Given the description of an element on the screen output the (x, y) to click on. 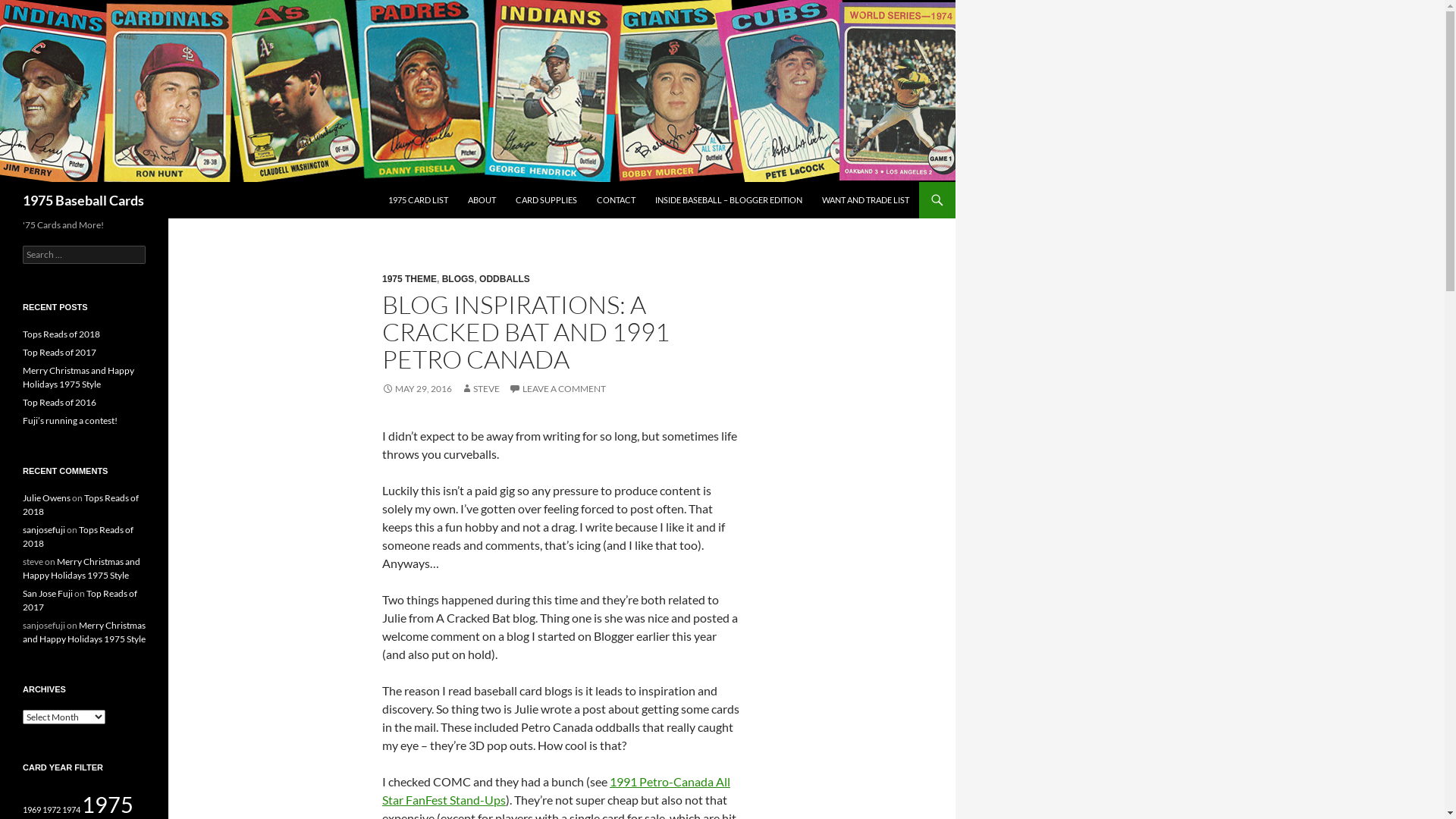
Top Reads of 2017 Element type: text (59, 351)
1972 Element type: text (51, 809)
Tops Reads of 2018 Element type: text (80, 504)
BLOGS Element type: text (458, 278)
Tops Reads of 2018 Element type: text (61, 333)
Search Element type: text (29, 9)
1975 Baseball Cards Element type: text (83, 200)
1975 Element type: text (107, 803)
1975 CARD LIST Element type: text (418, 200)
sanjosefuji Element type: text (43, 529)
San Jose Fuji Element type: text (47, 593)
CARD SUPPLIES Element type: text (546, 200)
SKIP TO CONTENT Element type: text (387, 181)
Top Reads of 2016 Element type: text (59, 401)
Merry Christmas and Happy Holidays 1975 Style Element type: text (83, 631)
STEVE Element type: text (480, 388)
Julie Owens Element type: text (46, 497)
Merry Christmas and Happy Holidays 1975 Style Element type: text (78, 376)
LEAVE A COMMENT Element type: text (556, 388)
1991 Petro-Canada All Star FanFest Stand-Ups Element type: text (556, 790)
Merry Christmas and Happy Holidays 1975 Style Element type: text (81, 567)
MAY 29, 2016 Element type: text (416, 388)
1974 Element type: text (71, 809)
WANT AND TRADE LIST Element type: text (865, 200)
1975 THEME Element type: text (409, 278)
ABOUT Element type: text (481, 200)
Search Element type: text (3, 181)
Top Reads of 2017 Element type: text (79, 599)
1969 Element type: text (31, 809)
CONTACT Element type: text (615, 200)
Tops Reads of 2018 Element type: text (77, 536)
ODDBALLS Element type: text (504, 278)
